Given the description of an element on the screen output the (x, y) to click on. 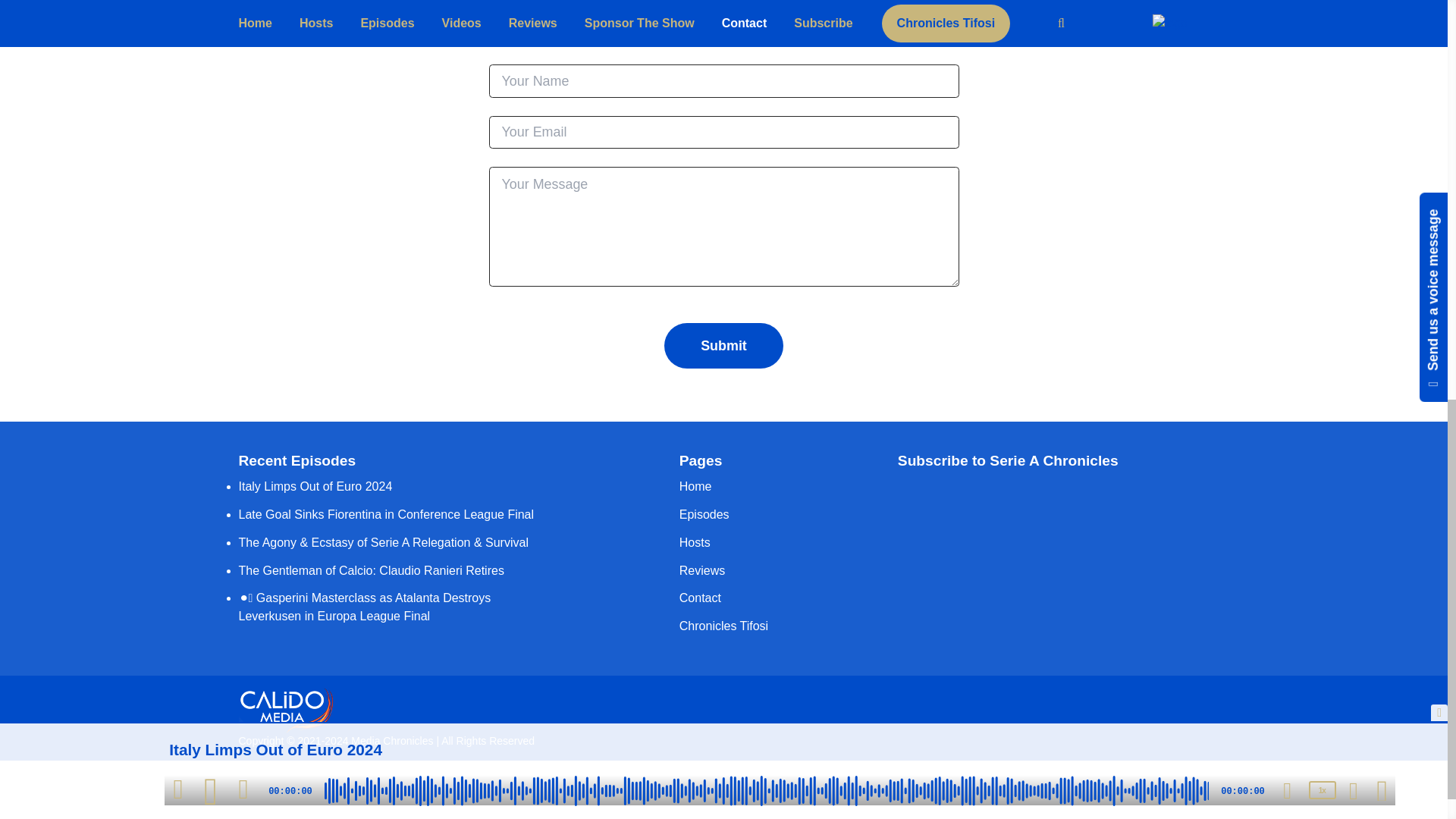
The Gentleman of Calcio: Claudio Ranieri Retires (370, 570)
Contact (699, 597)
Podcast Addict (1006, 582)
Podchaser (1052, 563)
Castbox.fm (1099, 522)
Overcast (1145, 522)
Spotify (914, 504)
Episodes (704, 513)
Submit (723, 345)
Reviews (702, 570)
